Given the description of an element on the screen output the (x, y) to click on. 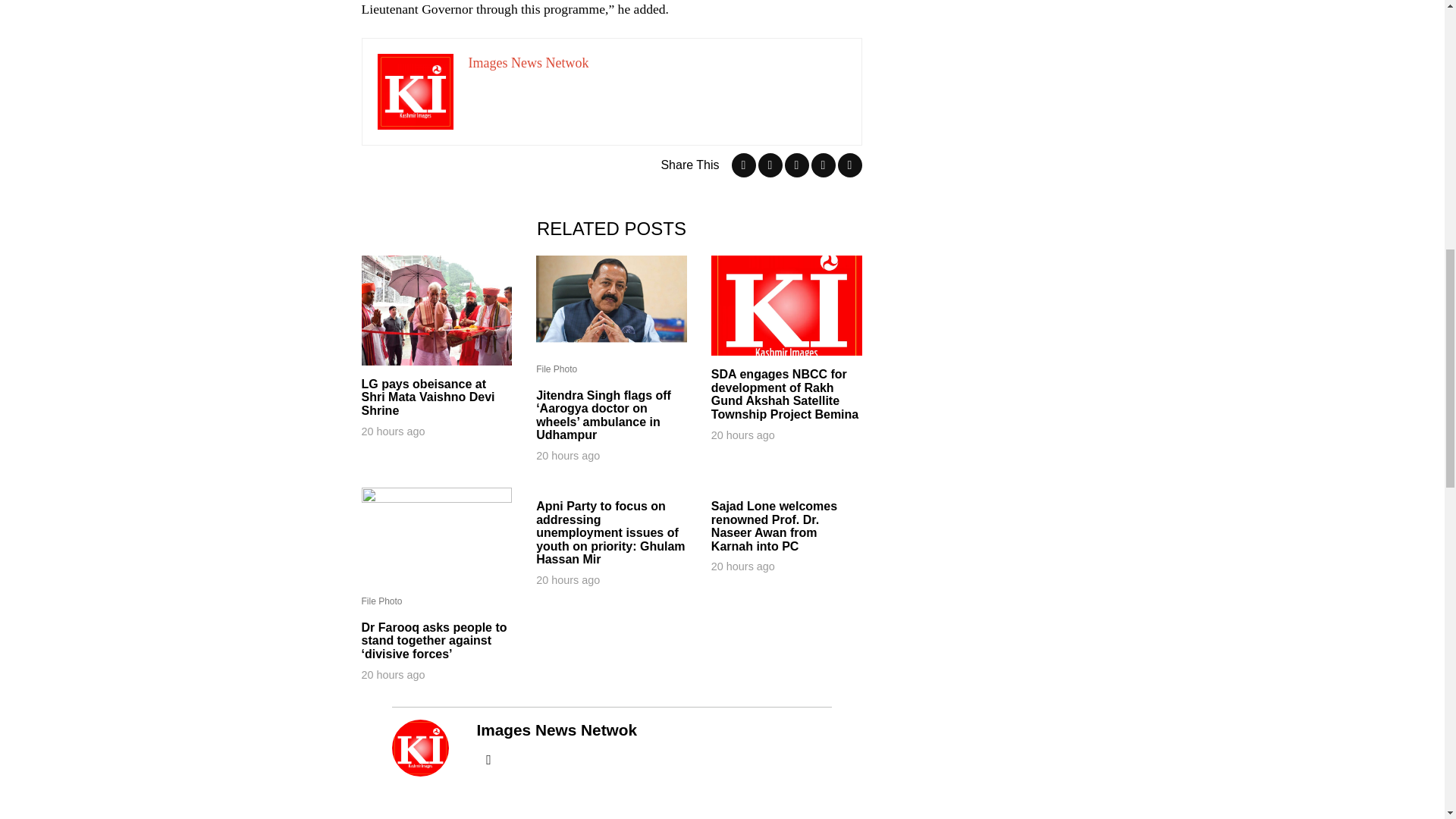
LG pays obeisance at Shri Mata Vaishno Devi Shrine (436, 397)
Images News Netwok (528, 61)
11 Aug, 2024 23:39:04 (393, 431)
11 Aug, 2024 22:54:56 (393, 674)
11 Aug, 2024 23:59:01 (567, 455)
11 Aug, 2024 22:17:58 (742, 435)
11 Aug, 2024 22:56:54 (567, 580)
11 Aug, 2024 22:55:52 (742, 566)
